Given the description of an element on the screen output the (x, y) to click on. 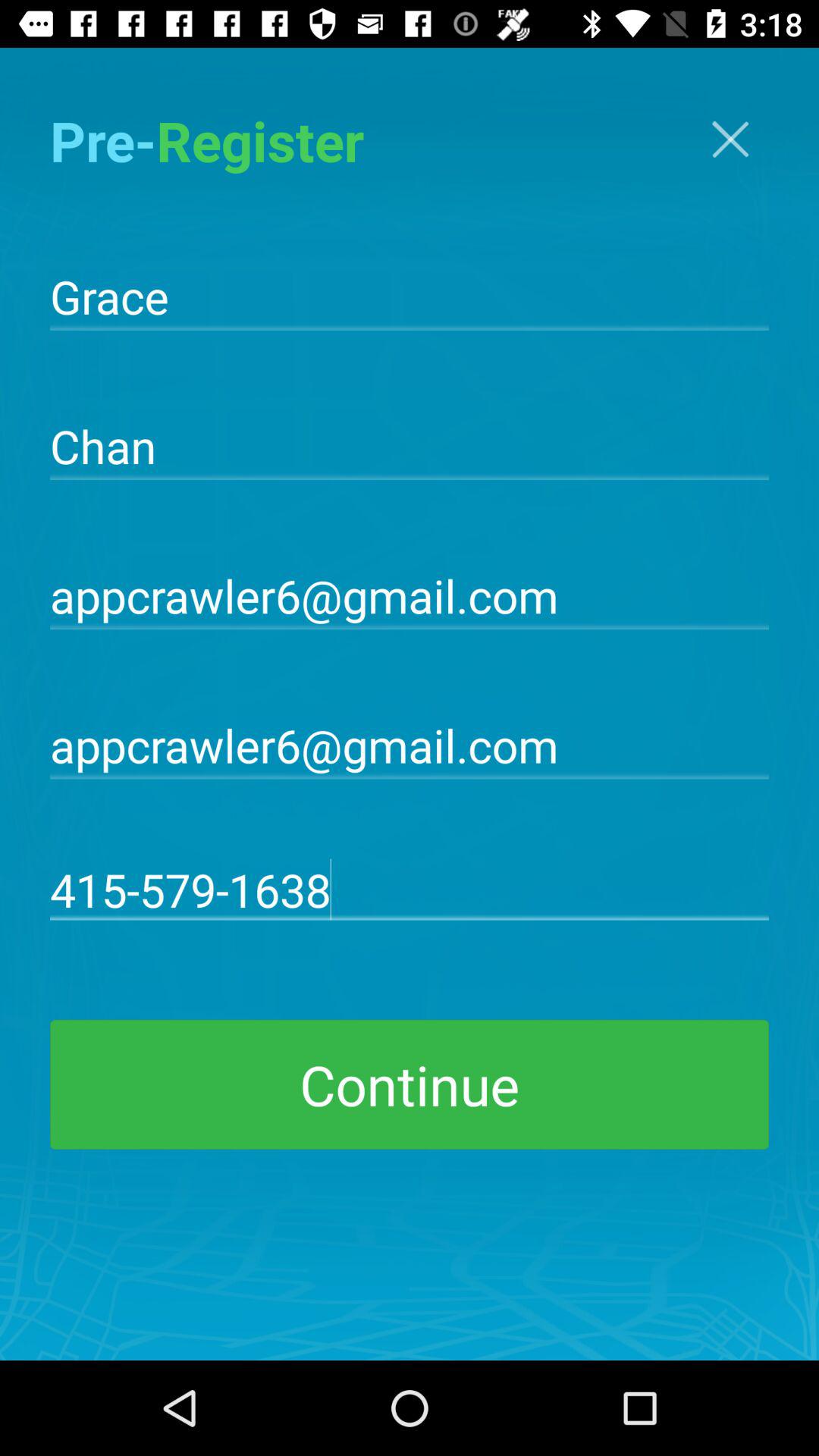
press the icon below the 415-579-1638 item (409, 1084)
